Given the description of an element on the screen output the (x, y) to click on. 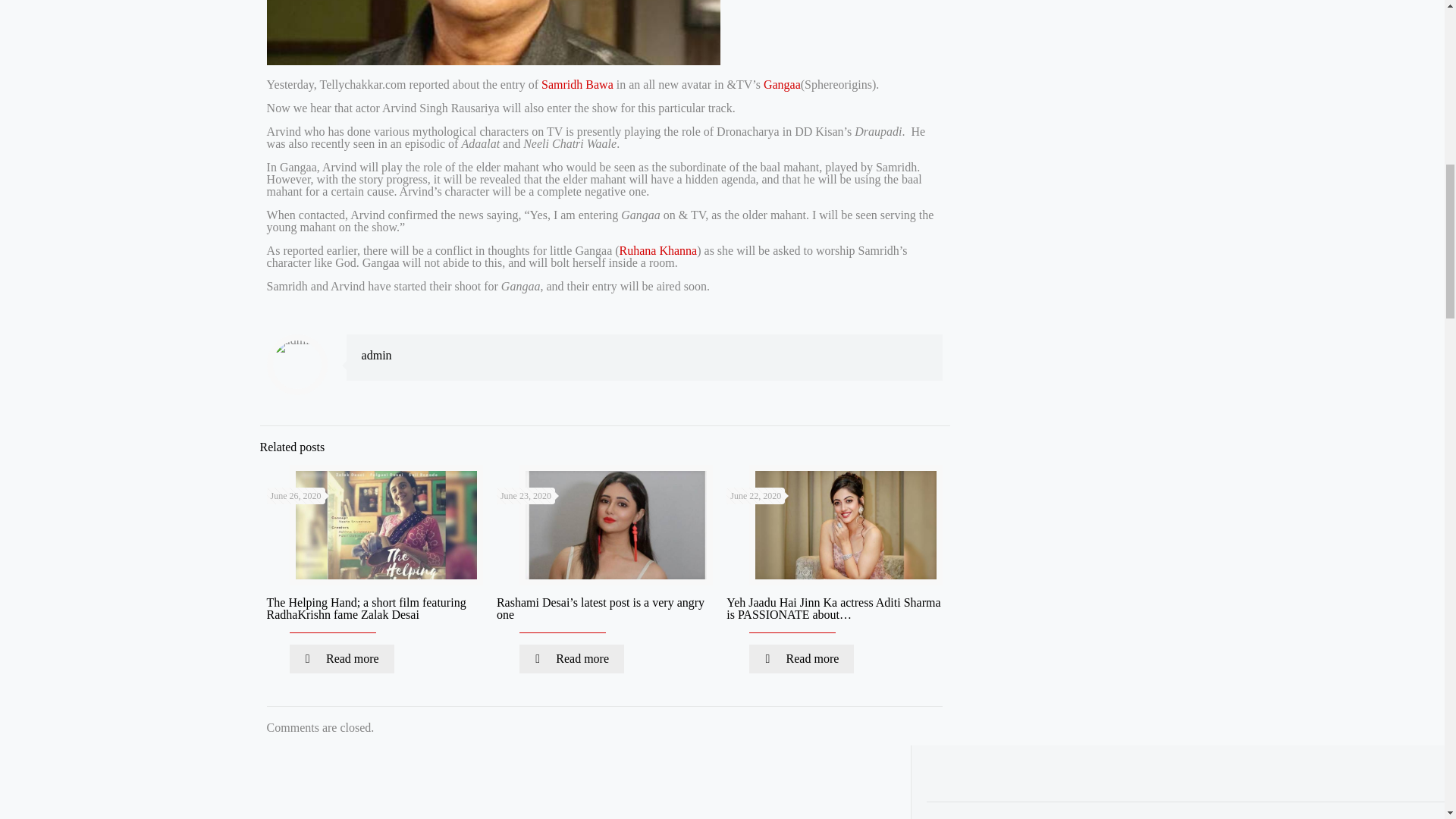
Read more (571, 658)
Read more (801, 658)
admin (376, 354)
Samridh Bawa (576, 83)
Ruhana Khanna (658, 250)
Gangaa (781, 83)
Read more (341, 658)
